Given the description of an element on the screen output the (x, y) to click on. 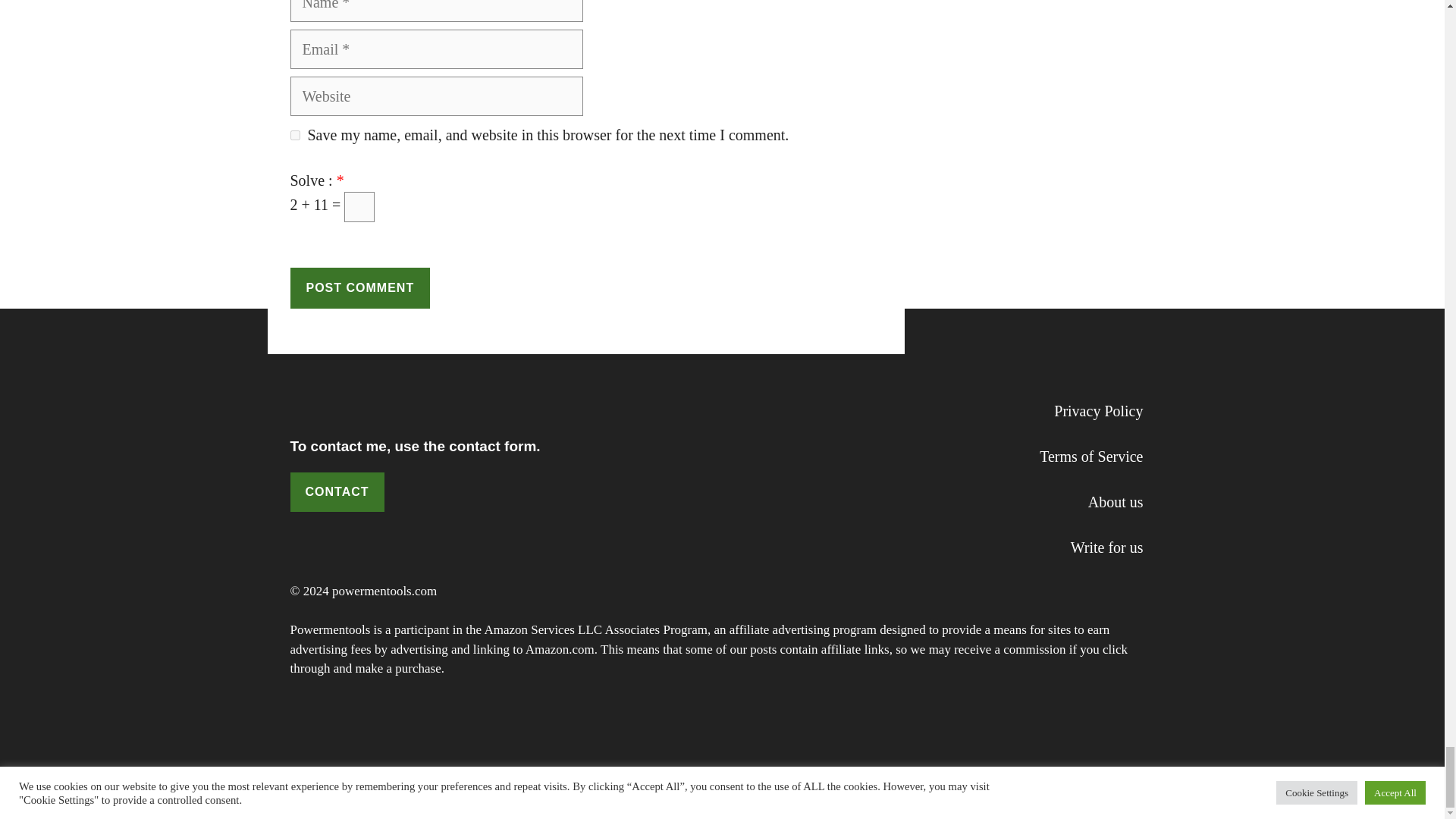
Post Comment (359, 287)
yes (294, 135)
